Given the description of an element on the screen output the (x, y) to click on. 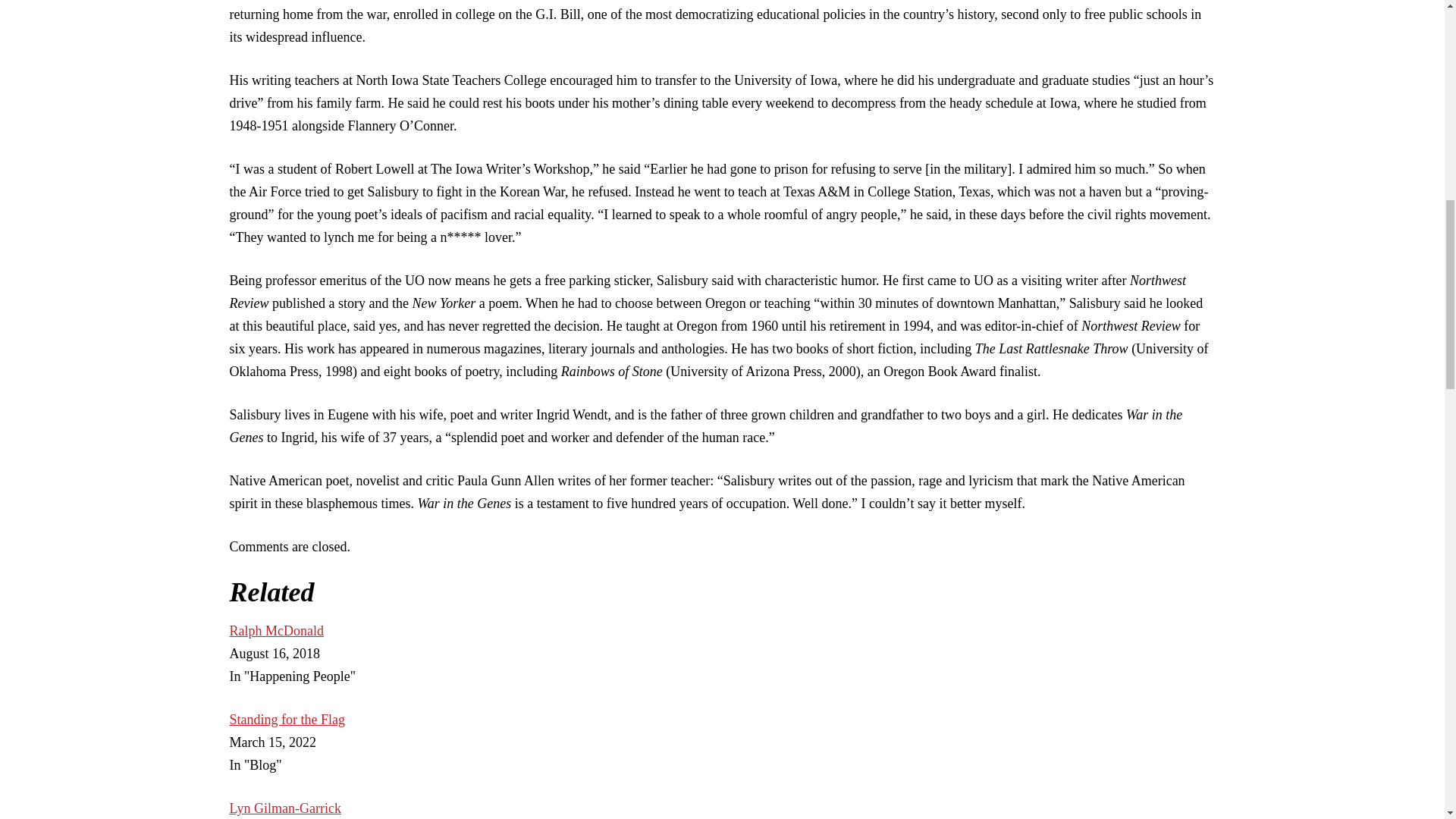
Lyn Gilman-Garrick (284, 807)
Standing for the Flag (285, 719)
Ralph McDonald (275, 630)
